Given the description of an element on the screen output the (x, y) to click on. 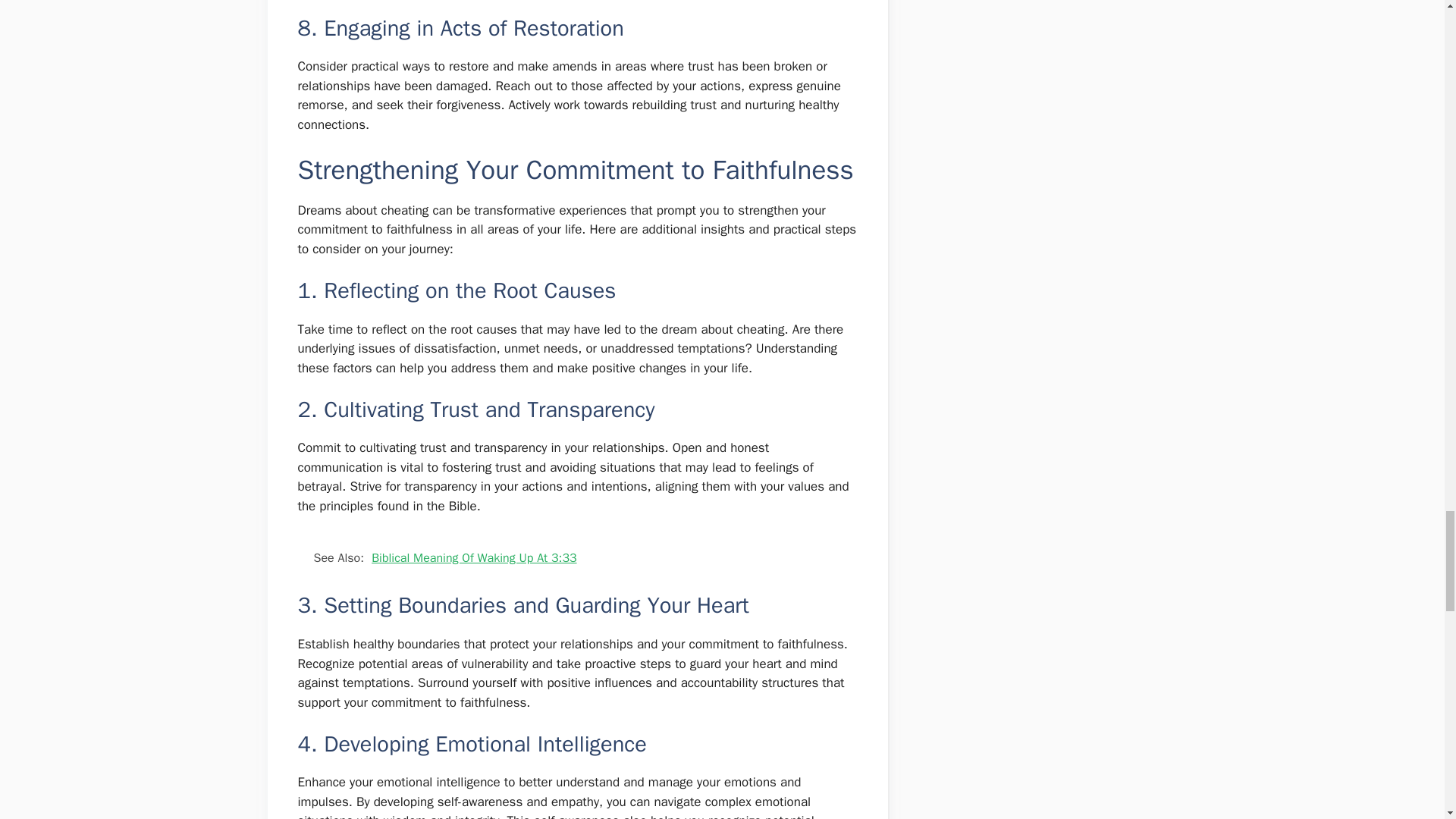
See Also:  Biblical Meaning Of Waking Up At 3:33 (577, 557)
